Given the description of an element on the screen output the (x, y) to click on. 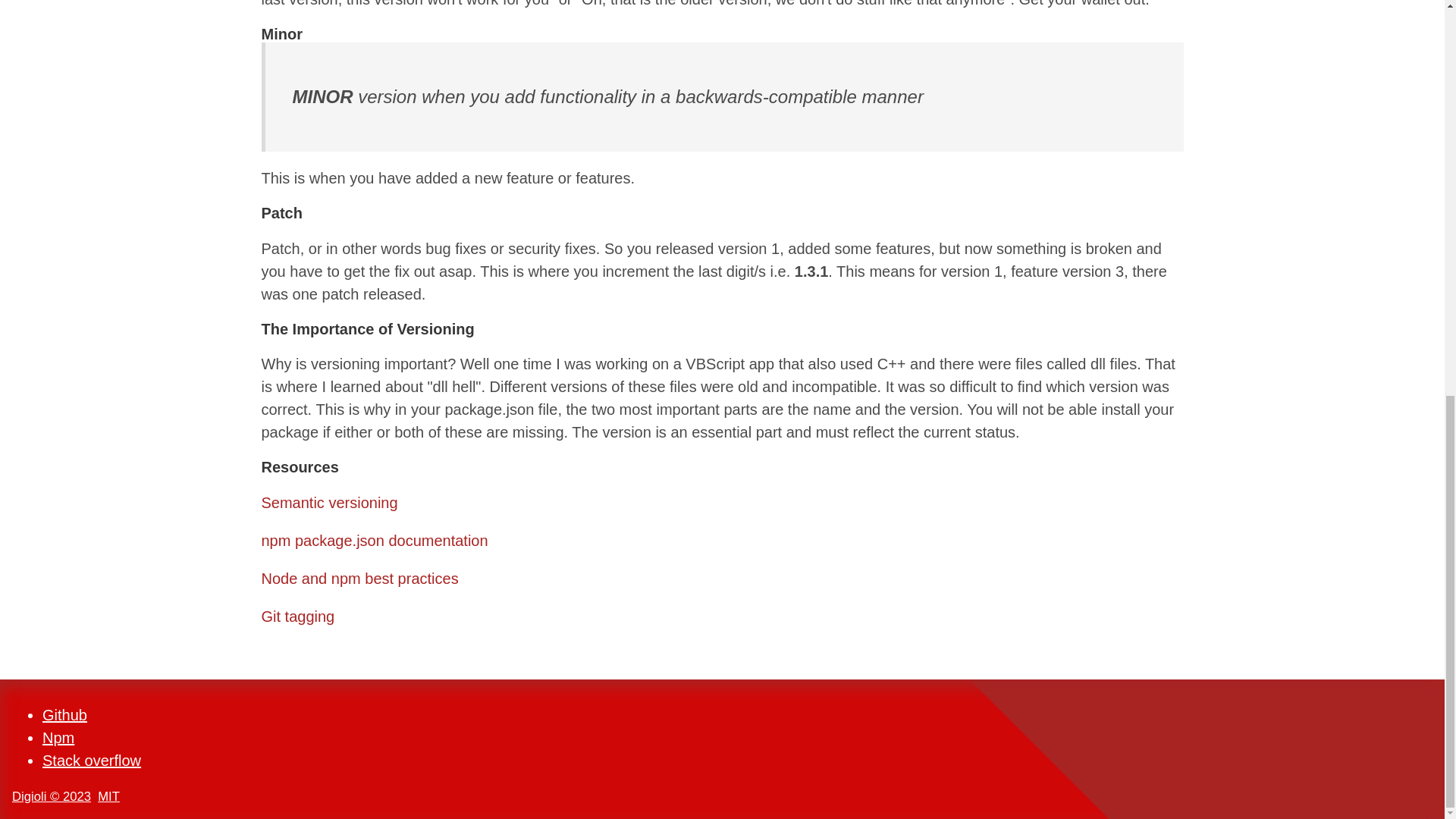
Npm (58, 736)
Git tagging (297, 615)
Digioli (50, 796)
Stack overflow (91, 759)
Node and npm best practices (359, 577)
Gitbub (64, 713)
License (108, 796)
Npm (58, 736)
Github (64, 713)
MIT (108, 796)
